Given the description of an element on the screen output the (x, y) to click on. 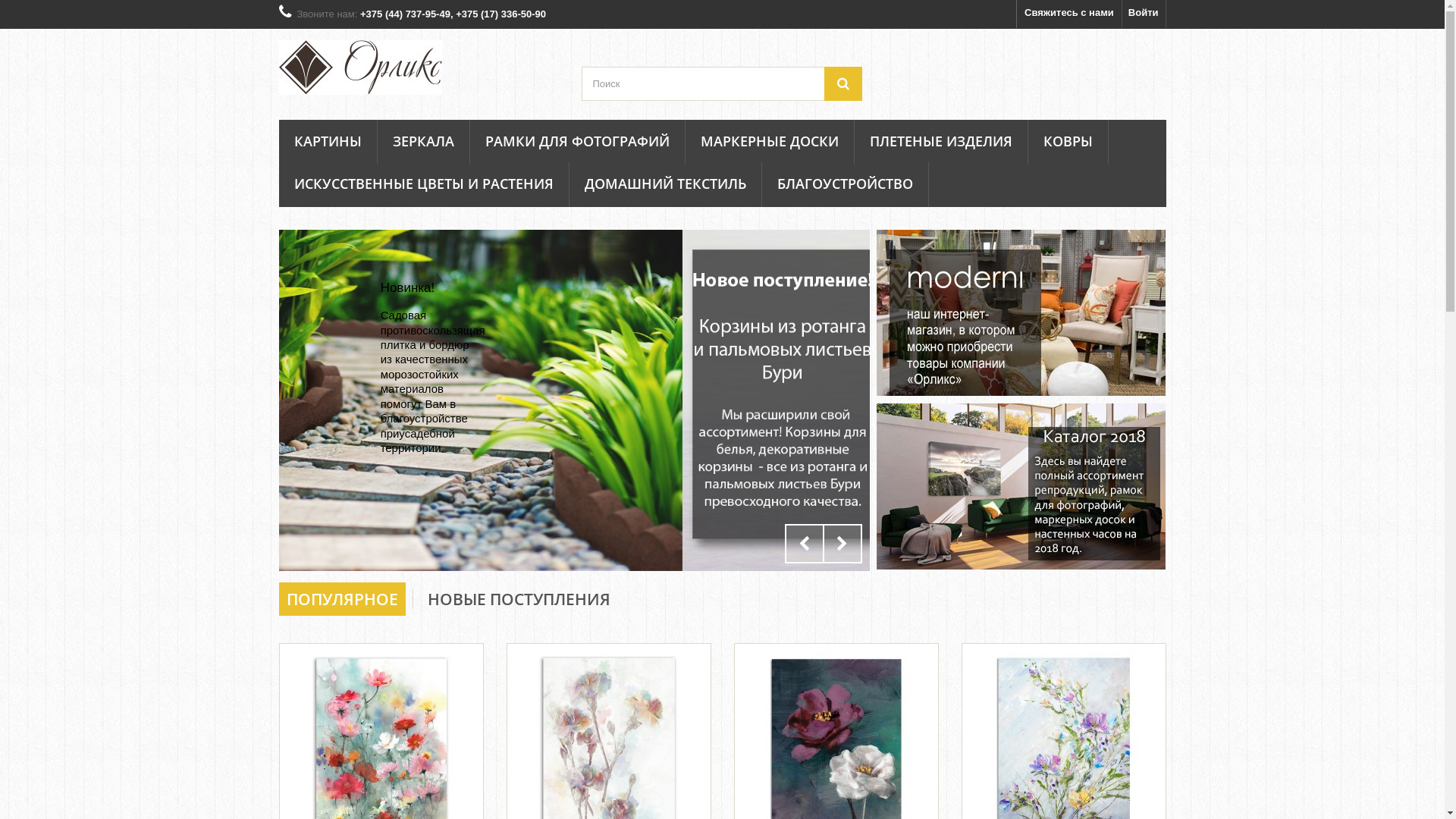
Next Element type: text (841, 543)
Prev Element type: text (803, 543)
